Given the description of an element on the screen output the (x, y) to click on. 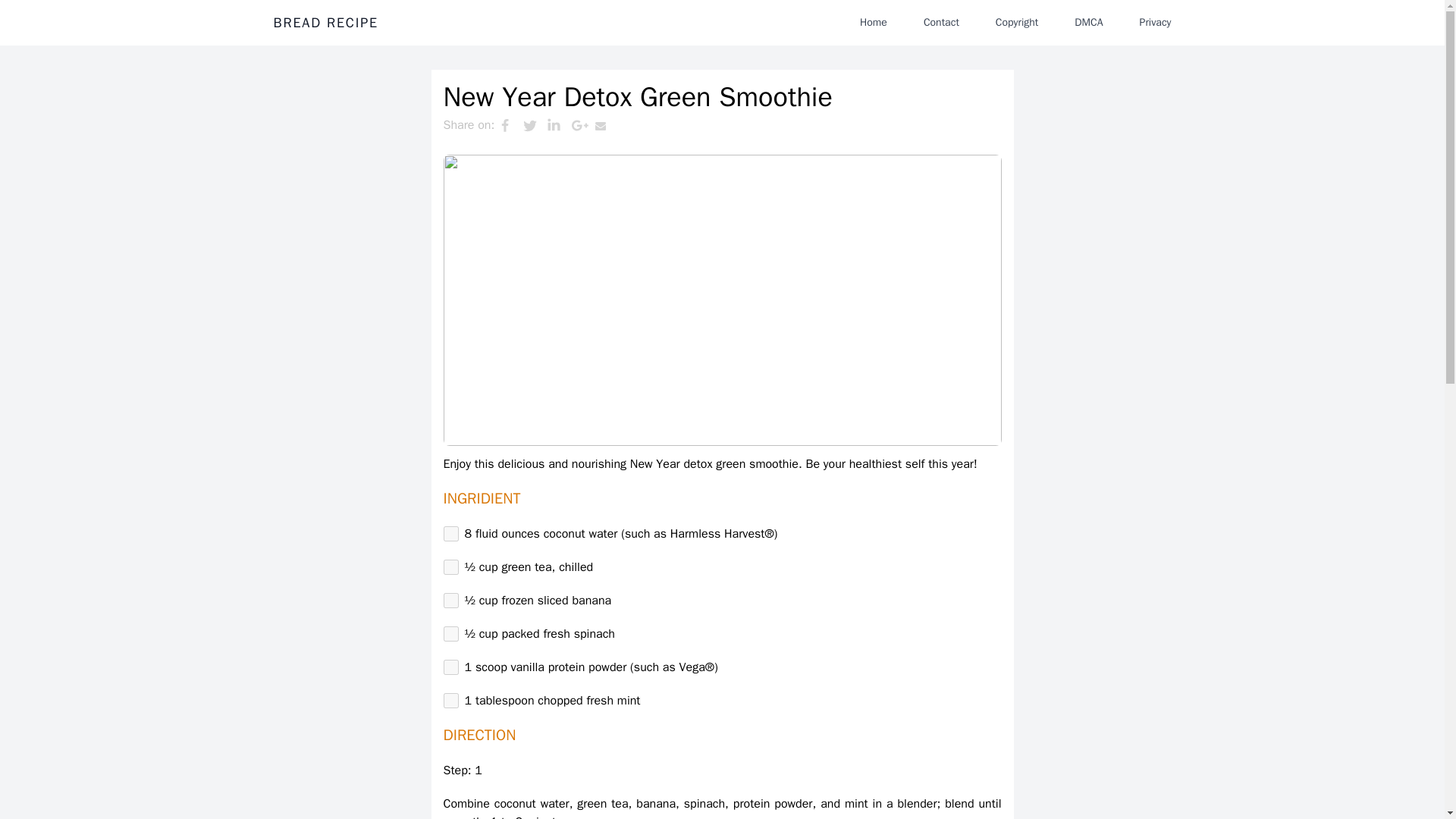
BREAD RECIPE (325, 22)
on (450, 566)
on (450, 667)
Copyright (1016, 22)
on (450, 633)
Privacy (1154, 22)
on (450, 700)
Home (873, 22)
DMCA (1088, 22)
Contact (941, 22)
